Given the description of an element on the screen output the (x, y) to click on. 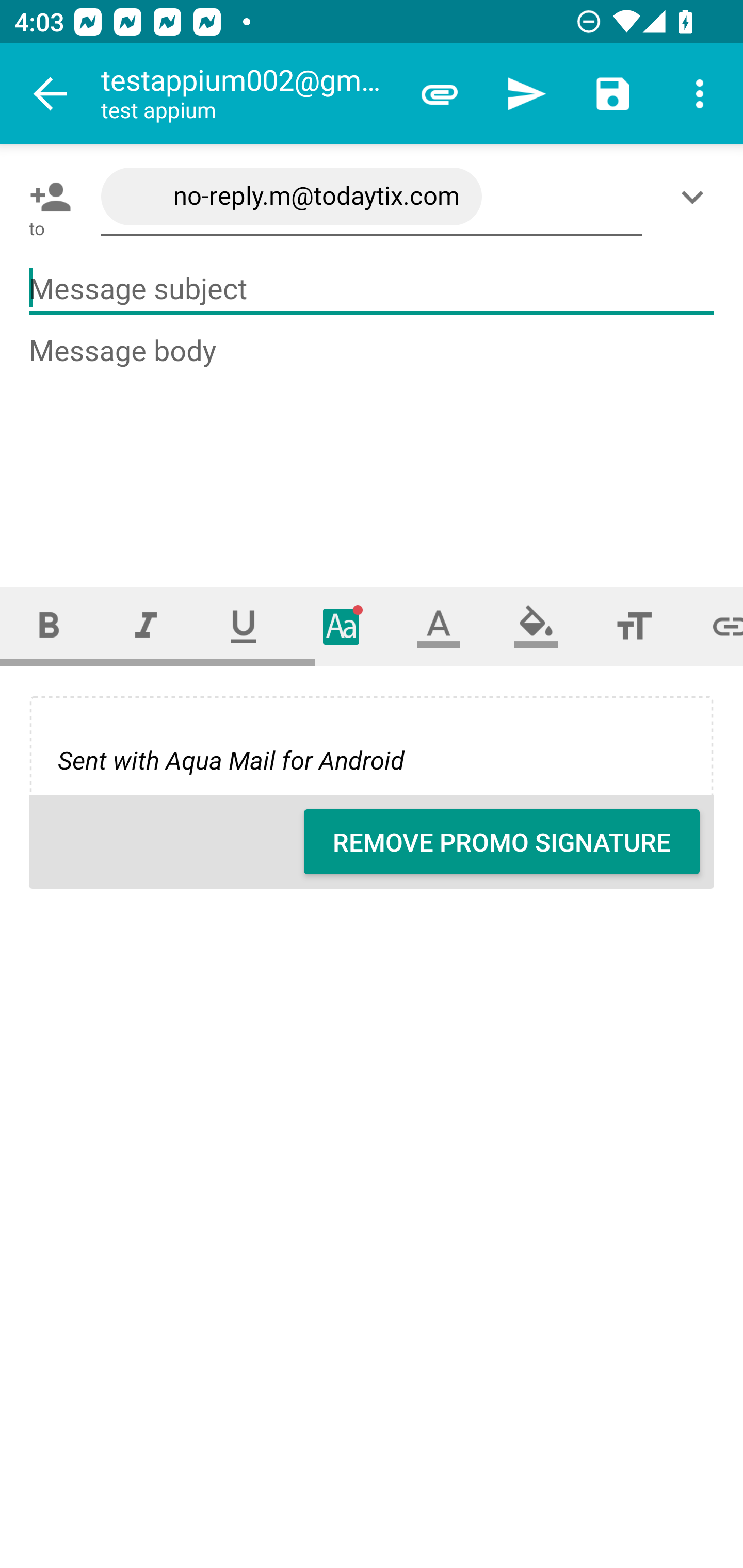
Navigate up (50, 93)
testappium002@gmail.com test appium (248, 93)
Attach (439, 93)
Send (525, 93)
Save (612, 93)
More options (699, 93)
no-reply.m@todaytix.com,  (371, 197)
Pick contact: To (46, 196)
Show/Add CC/BCC (696, 196)
Message subject (371, 288)
Message body (372, 442)
Bold (48, 626)
Italic (145, 626)
Underline (243, 626)
Typeface (font) (341, 626)
Text color (438, 626)
Fill color (536, 626)
Font size (633, 626)
REMOVE PROMO SIGNATURE (501, 841)
